Given the description of an element on the screen output the (x, y) to click on. 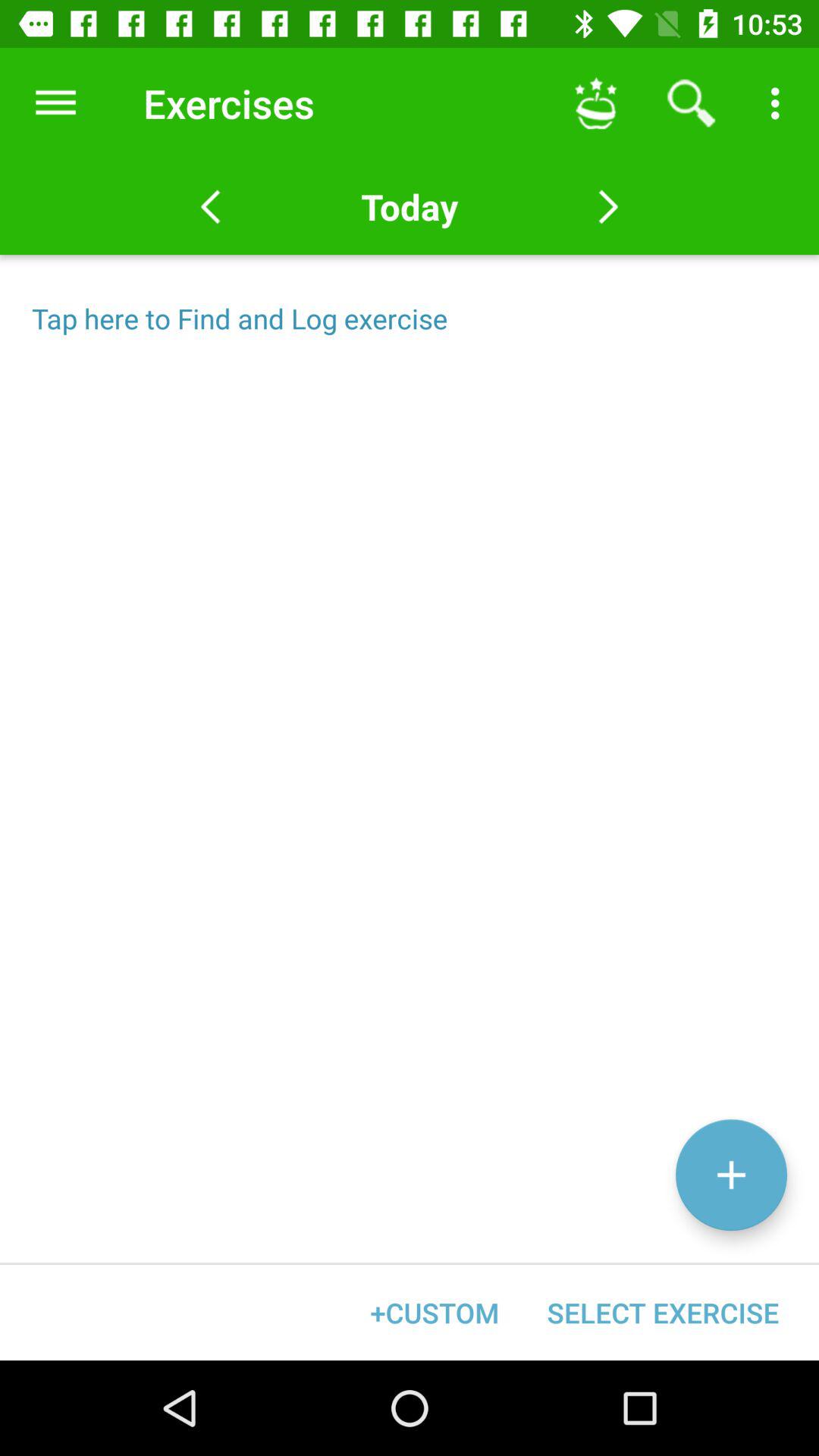
jump until the today item (409, 206)
